Given the description of an element on the screen output the (x, y) to click on. 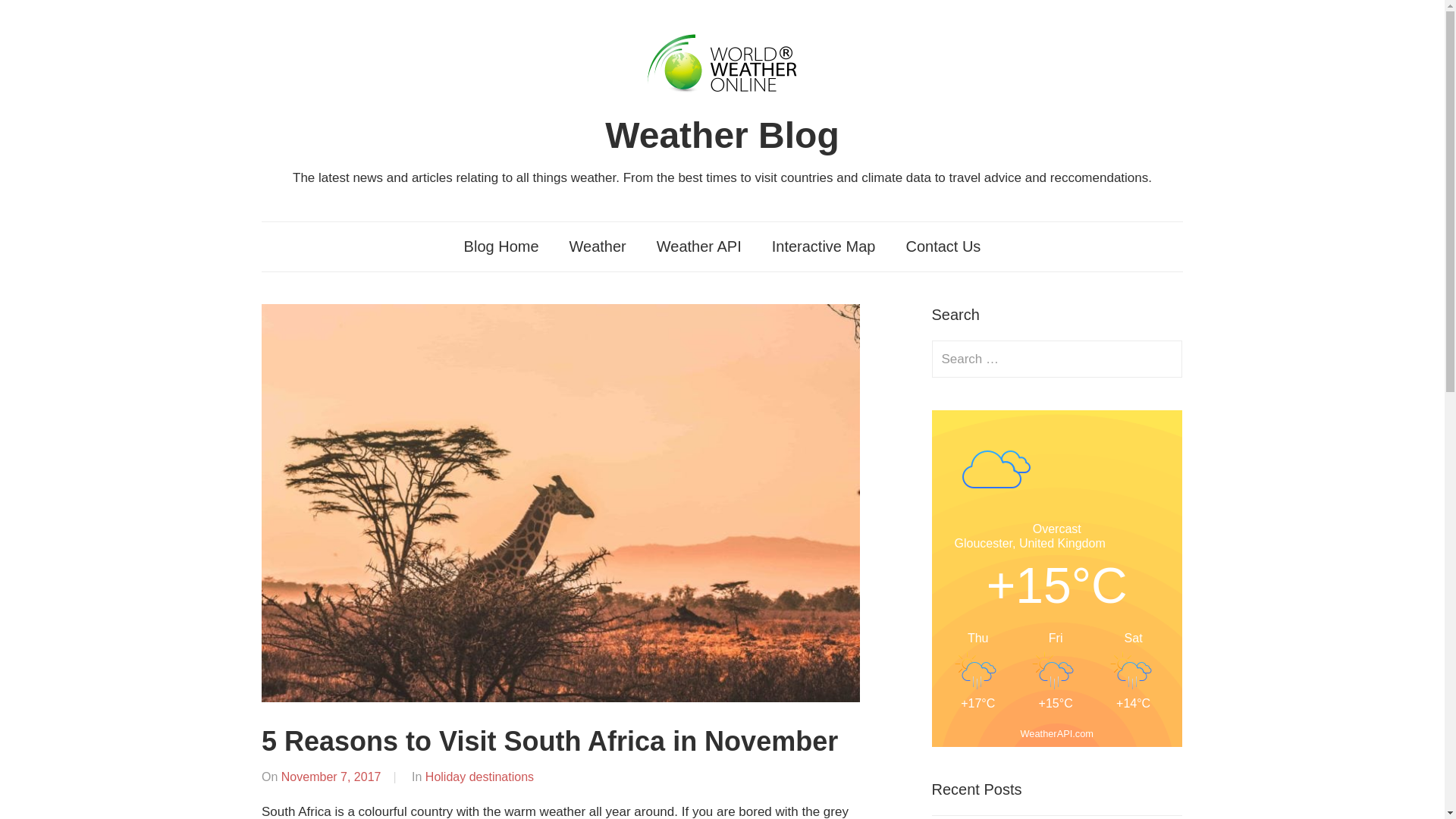
Contact Us (942, 246)
Weather API (699, 246)
Search (1163, 359)
Free weather API (1057, 733)
Weather Blog (721, 135)
Weather API (699, 246)
Interactive Map (824, 246)
WeatherAPI.com (1057, 733)
Search for: (1056, 358)
Blog Home (501, 246)
November 7, 2017 (331, 776)
Holiday destinations (479, 776)
Weather (598, 246)
2:58 pm (331, 776)
